Given the description of an element on the screen output the (x, y) to click on. 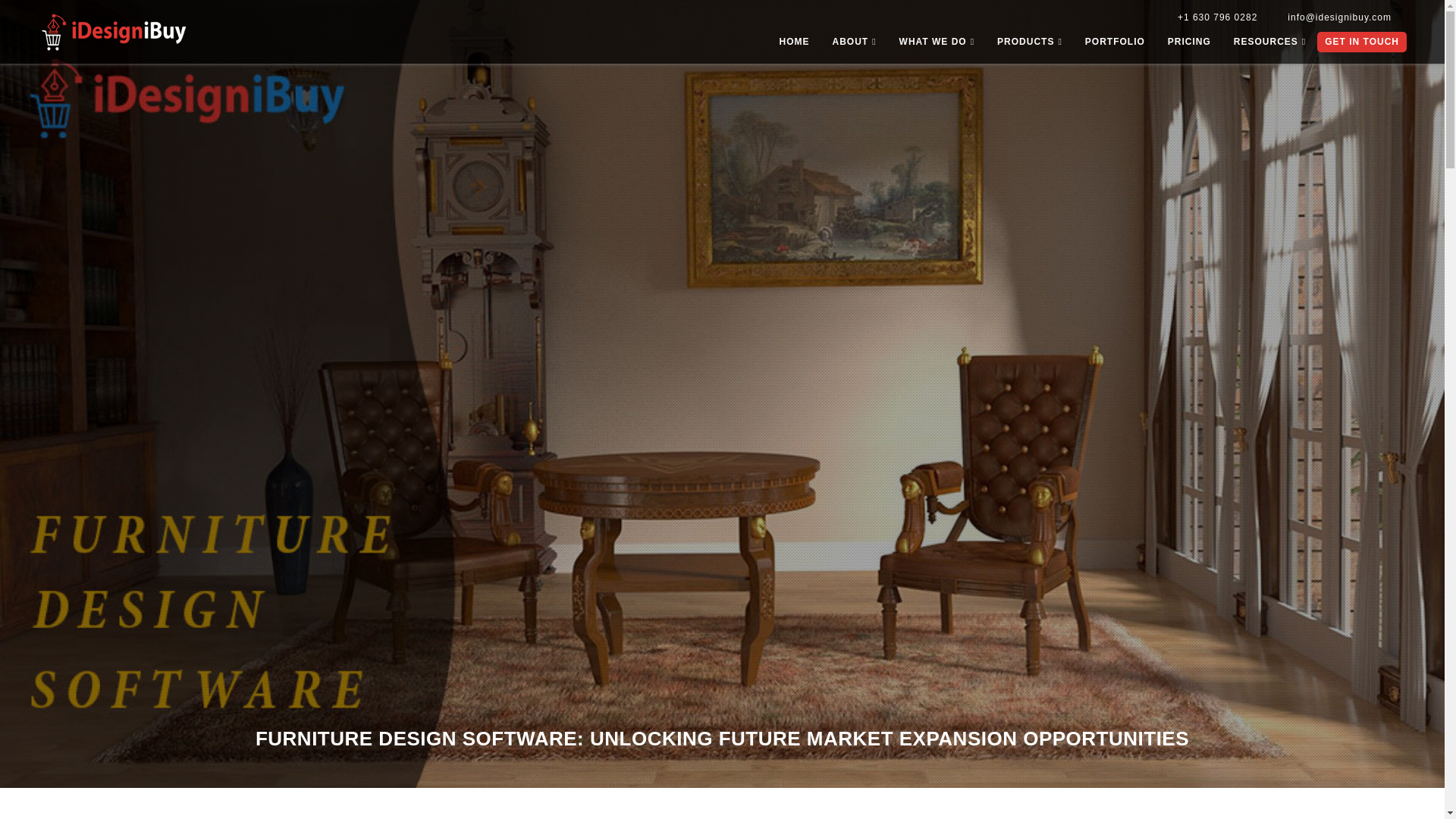
HOME (794, 45)
RESOURCES (1270, 45)
PRODUCTS (1029, 45)
GET IN TOUCH (1361, 41)
PORTFOLIO (1115, 45)
WHAT WE DO (937, 45)
PRICING (1189, 45)
ABOUT (853, 45)
